Given the description of an element on the screen output the (x, y) to click on. 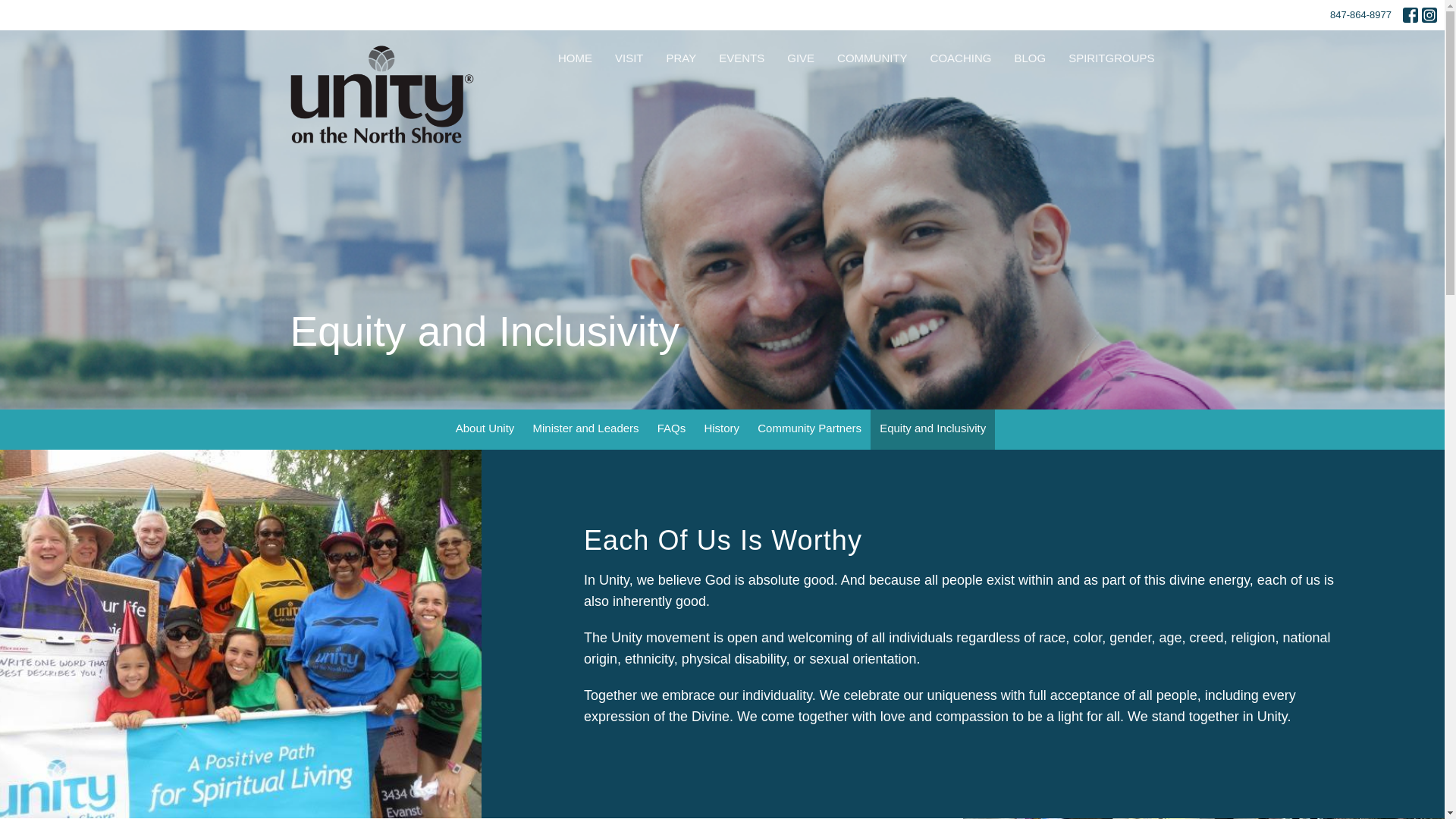
COACHING (960, 57)
SPIRITGROUPS (1111, 57)
BLOG (1029, 57)
FAQs (671, 429)
GIVE (800, 57)
EVENTS (741, 57)
History (721, 429)
About Unity (485, 429)
847-864-8977 (1360, 15)
PRAY (680, 57)
VISIT (628, 57)
Minister and Leaders (584, 429)
Community Partners (809, 429)
HOME (574, 57)
COMMUNITY (872, 57)
